Given the description of an element on the screen output the (x, y) to click on. 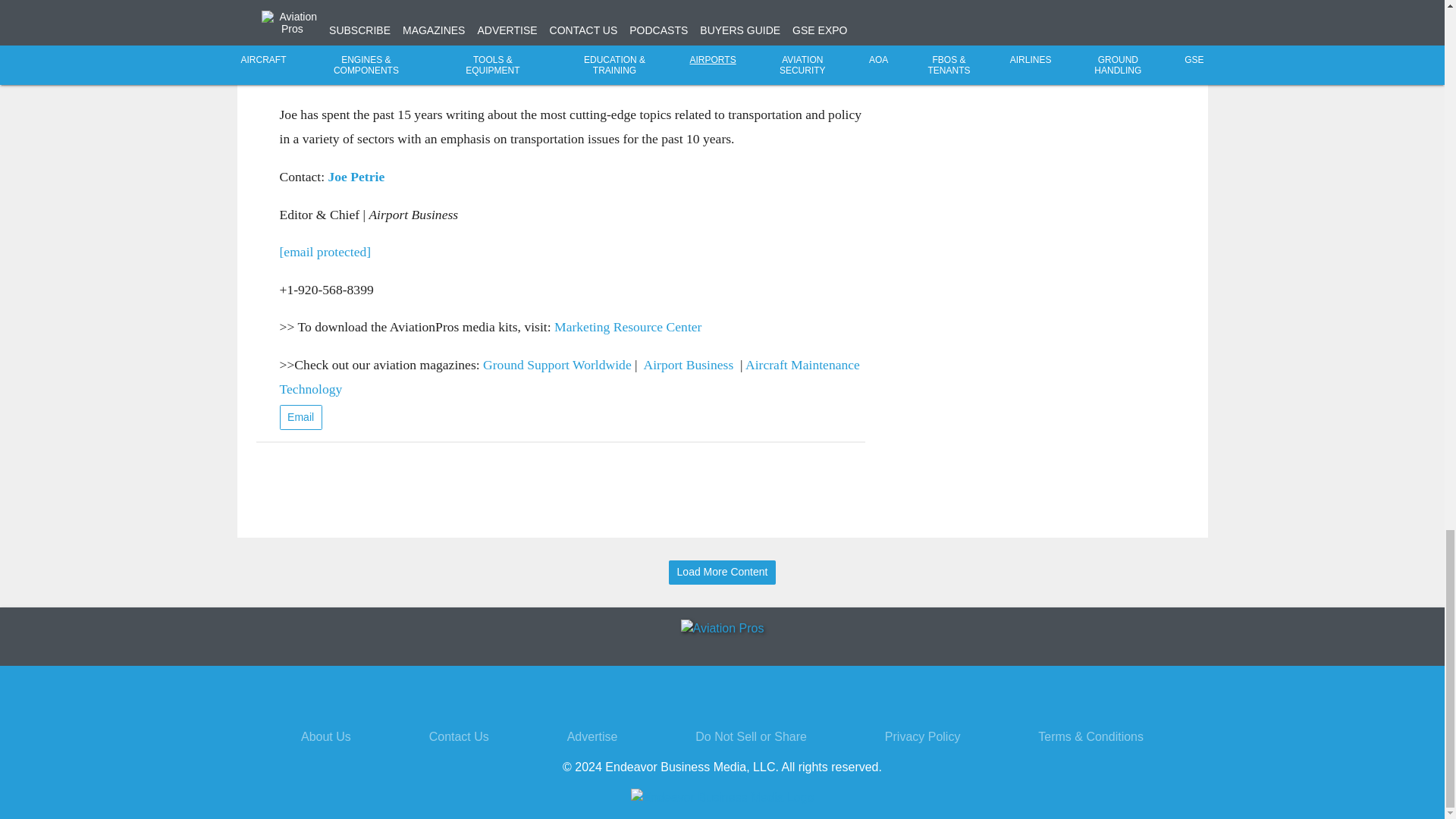
Airport Business (688, 364)
Email (300, 416)
Marketing Resource Center (627, 326)
Aircraft Maintenance Technology (569, 376)
Ground Support Worldwide (557, 364)
Joe Petrie (357, 176)
